Given the description of an element on the screen output the (x, y) to click on. 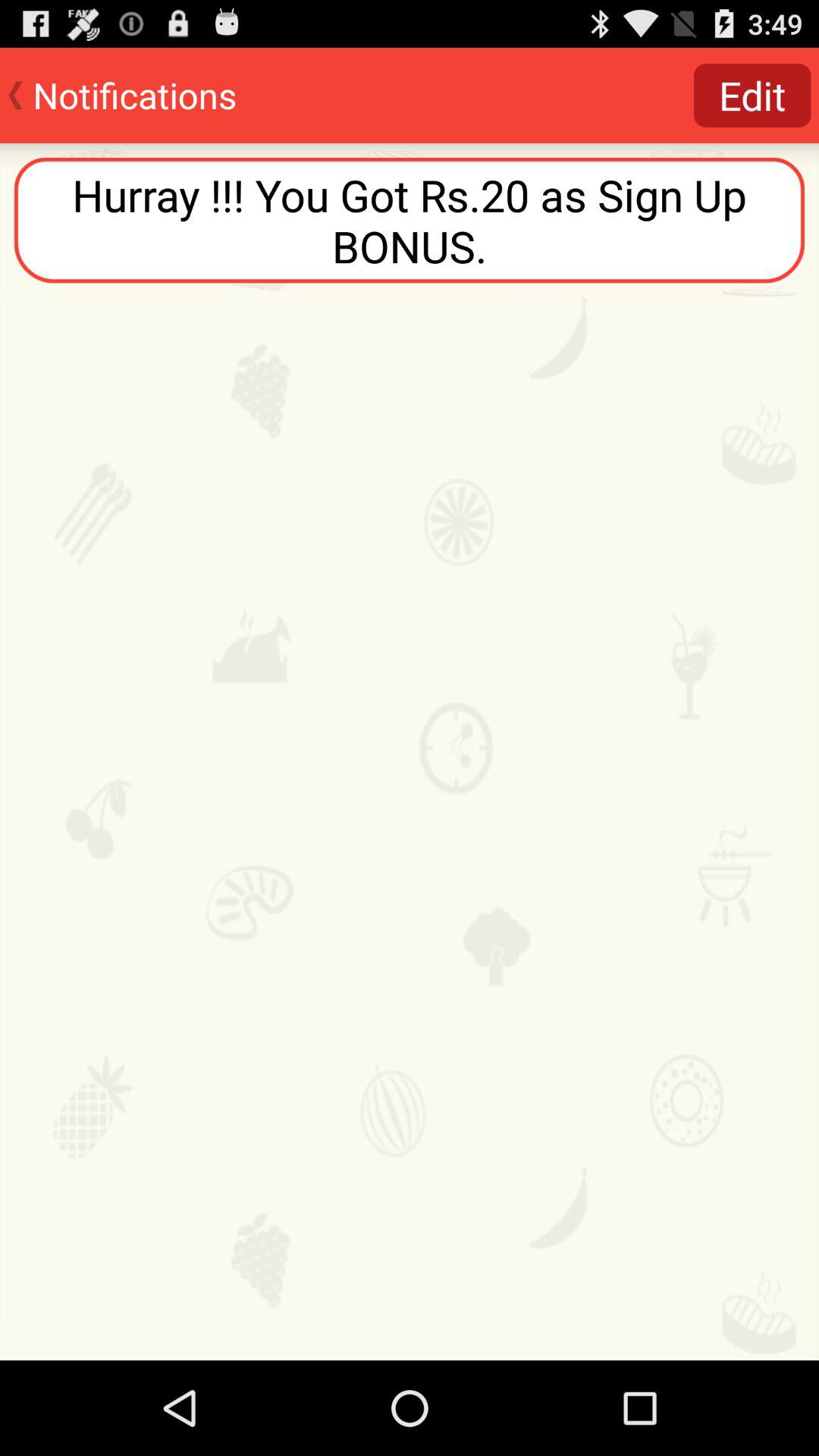
scroll to the hurray you got icon (409, 220)
